Given the description of an element on the screen output the (x, y) to click on. 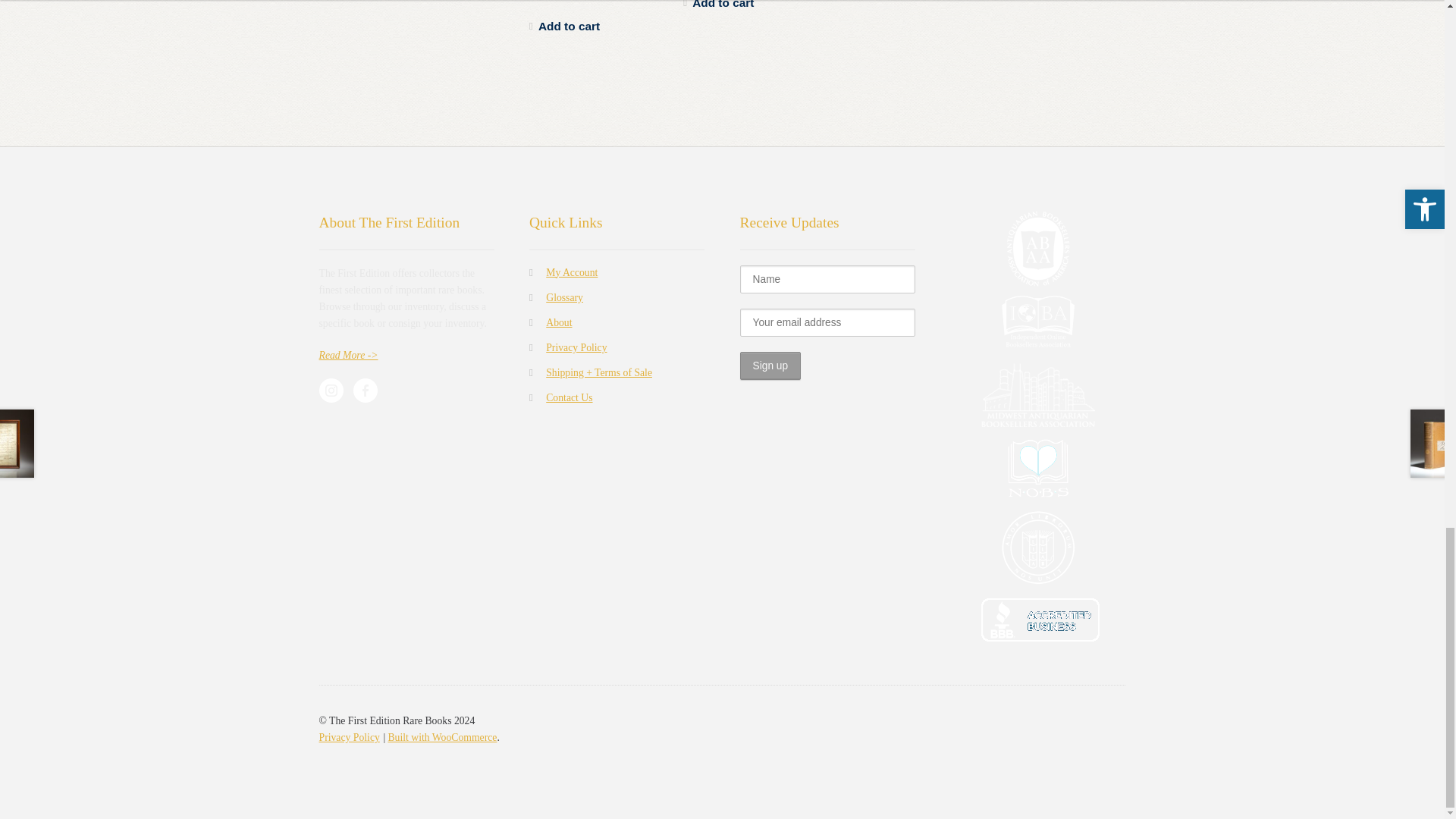
Sign up (769, 366)
WooCommerce - The Best eCommerce Platform for WordPress (441, 737)
